Given the description of an element on the screen output the (x, y) to click on. 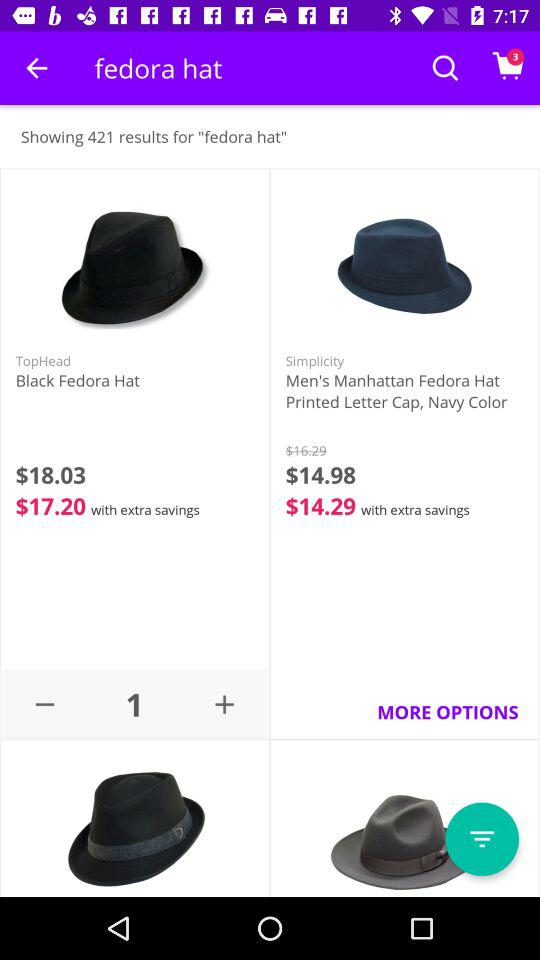
scroll to the 1 item (134, 704)
